Given the description of an element on the screen output the (x, y) to click on. 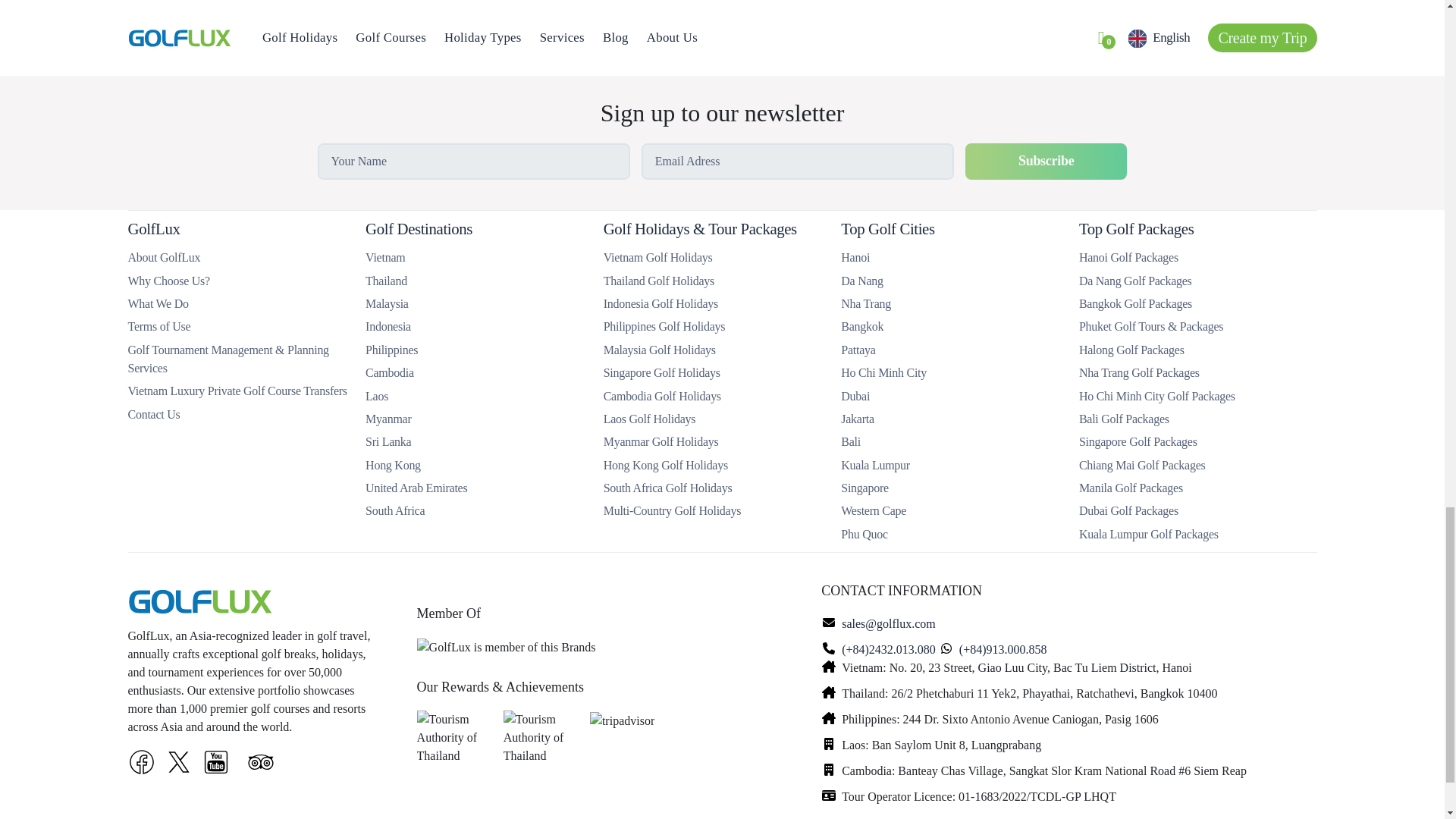
Laos (376, 395)
Malaysia (387, 303)
Cambodia (389, 372)
Vietnam (384, 256)
Philippines (391, 349)
Contact Us (153, 413)
About GolfLux (164, 256)
What We Do (157, 303)
Indonesia (387, 326)
Terms of Use (159, 326)
Thailand (386, 280)
Why Choose Us? (168, 280)
Vietnam Luxury Private Golf Course Transfers (237, 390)
